Given the description of an element on the screen output the (x, y) to click on. 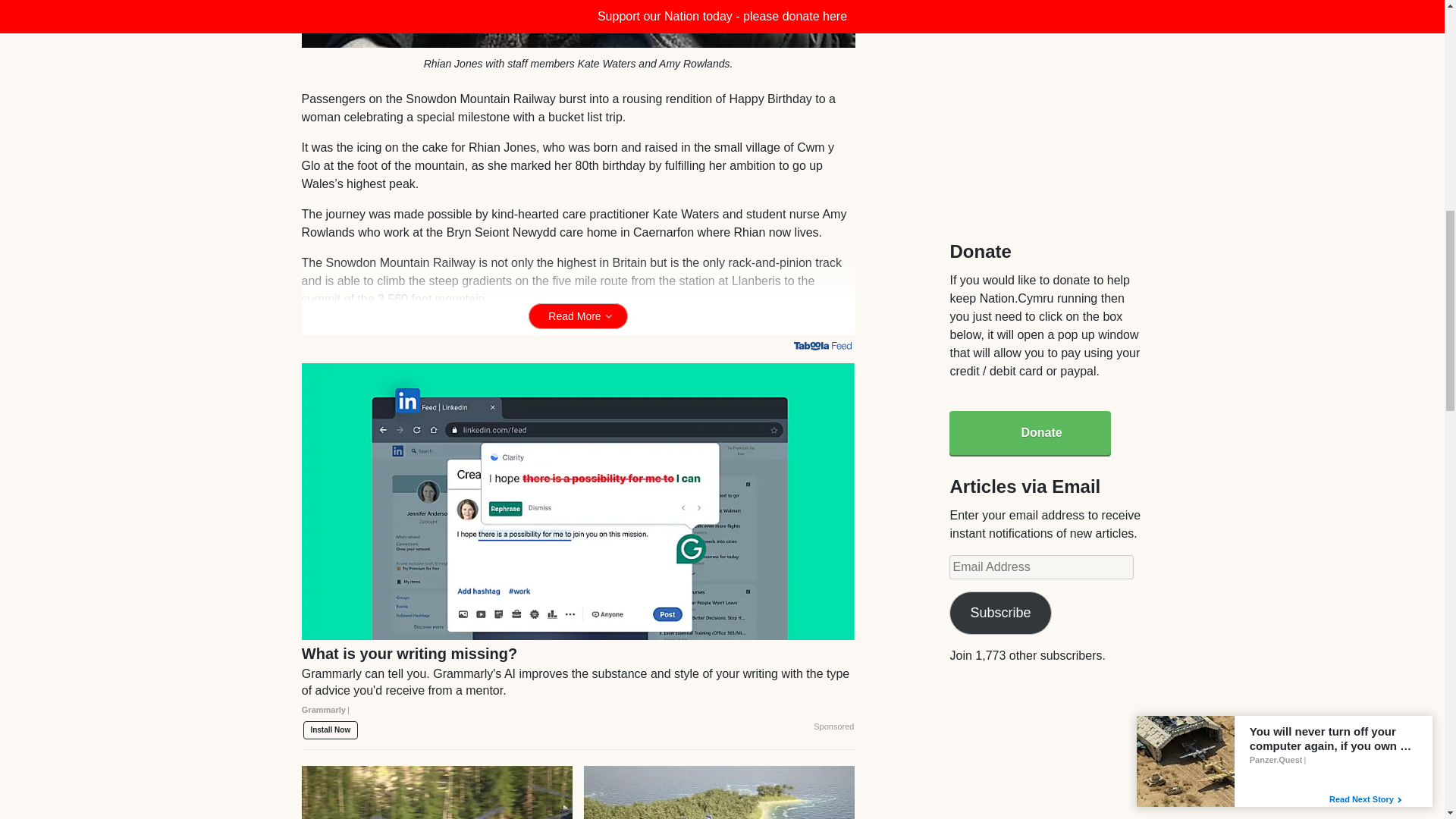
Read More (577, 316)
Sponsored (833, 727)
What is your writing missing? (578, 687)
Install Now (330, 730)
